Given the description of an element on the screen output the (x, y) to click on. 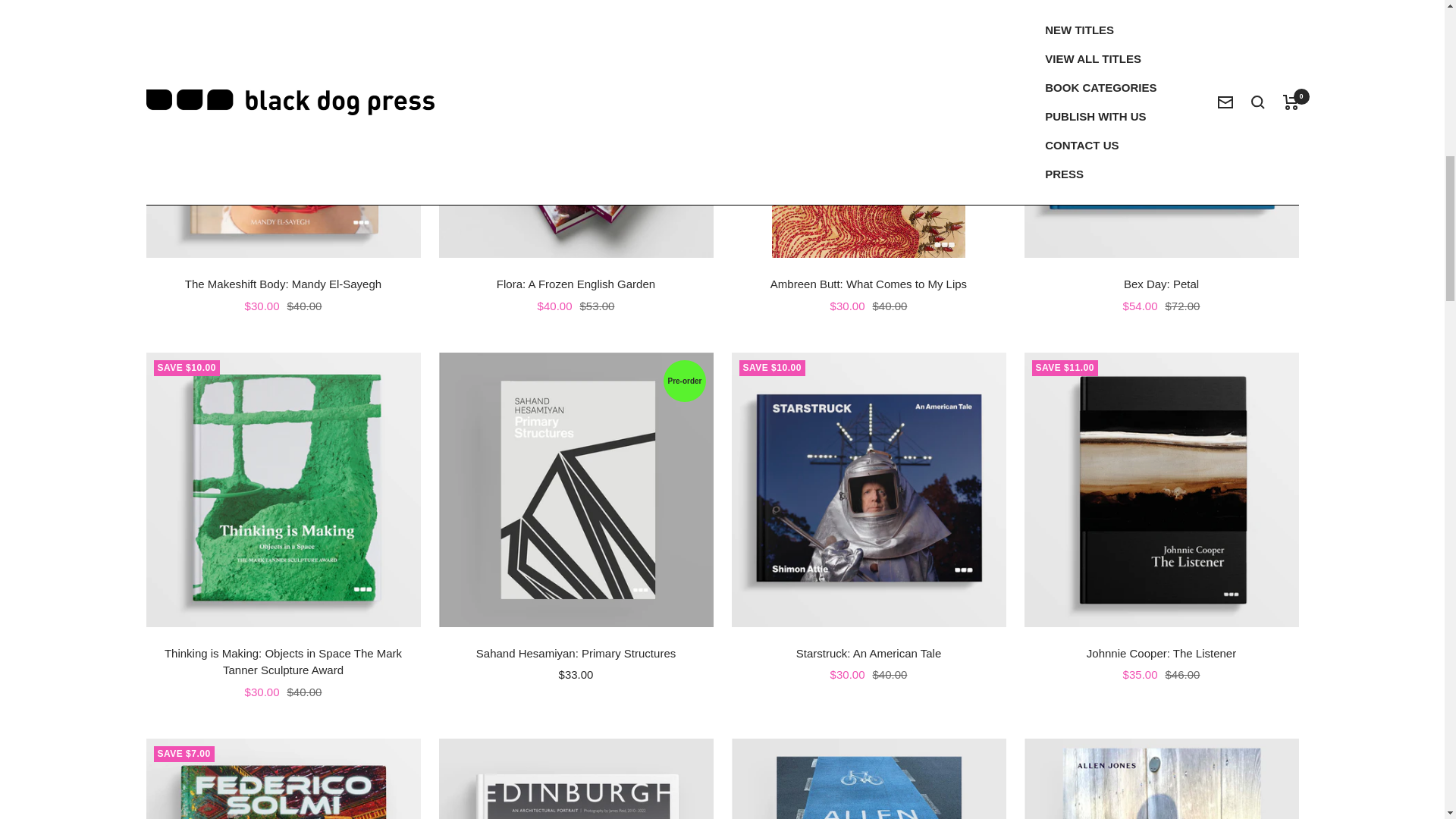
The Makeshift Body: Mandy El-Sayegh (282, 284)
Bex Day: Petal (1160, 284)
Ambreen Butt: What Comes to My Lips (868, 284)
Flora: A Frozen English Garden (575, 284)
